Given the description of an element on the screen output the (x, y) to click on. 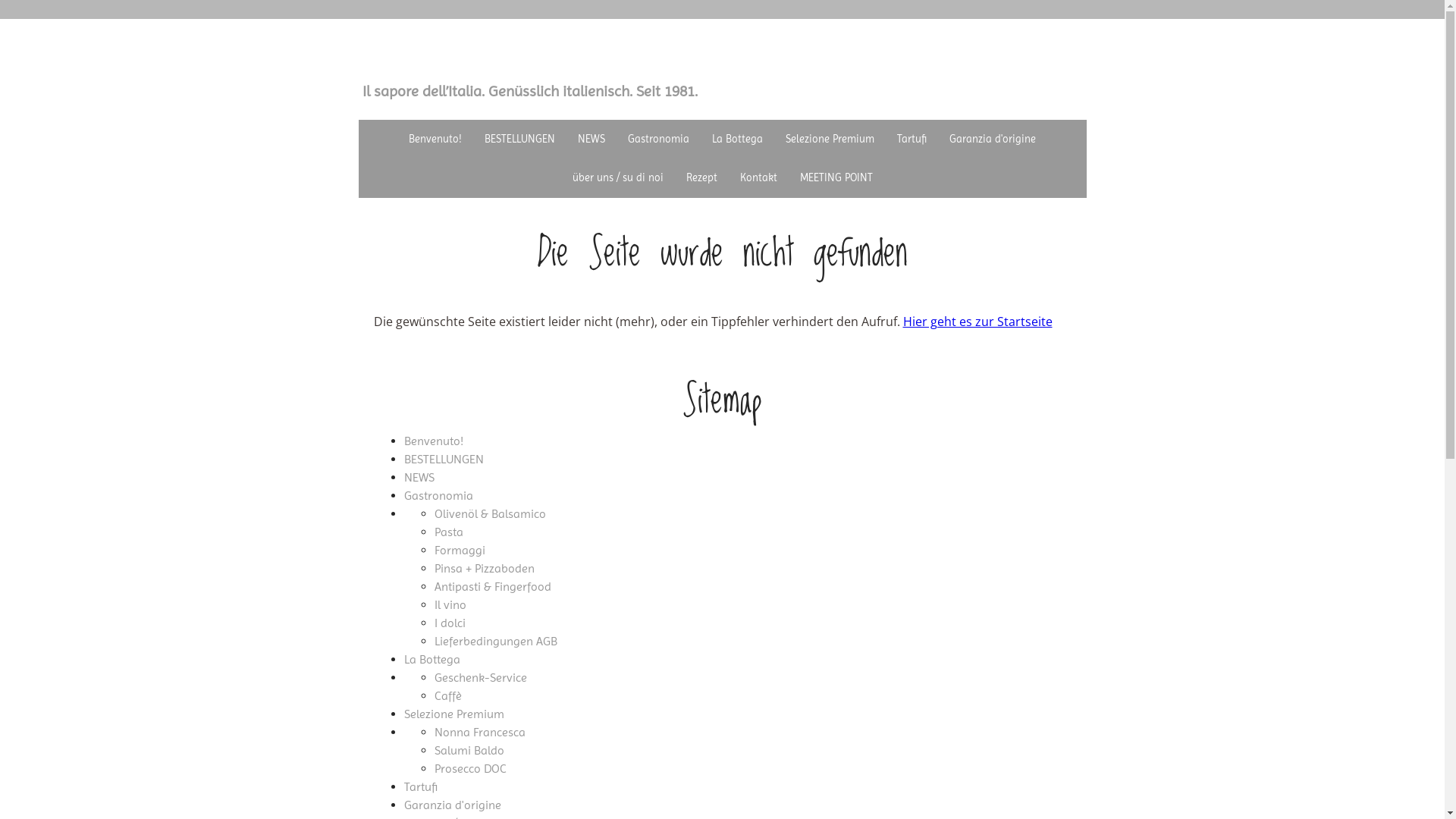
NEWS Element type: text (418, 477)
Kontakt Element type: text (757, 177)
Garanzia d'origine Element type: text (451, 804)
MEETING POINT Element type: text (836, 177)
BESTELLUNGEN Element type: text (519, 138)
Garanzia d'origine Element type: text (992, 138)
Hier geht es zur Startseite Element type: text (976, 321)
BESTELLUNGEN Element type: text (443, 458)
Lieferbedingungen AGB Element type: text (494, 640)
Prosecco DOC Element type: text (469, 768)
Geschenk-Service Element type: text (479, 677)
Benvenuto! Element type: text (435, 138)
Salumi Baldo Element type: text (468, 750)
Gastronomia Element type: text (658, 138)
Il vino Element type: text (449, 604)
La Bottega Element type: text (737, 138)
Benvenuto! Element type: text (432, 440)
NEWS Element type: text (591, 138)
Rezept Element type: text (701, 177)
Gastronomia Element type: text (437, 495)
Pasta Element type: text (447, 531)
La Bottega Element type: text (431, 659)
Selezione Premium Element type: text (453, 713)
Antipasti & Fingerfood Element type: text (491, 586)
Nonna Francesca Element type: text (478, 731)
Pinsa + Pizzaboden Element type: text (483, 568)
I dolci Element type: text (448, 622)
Formaggi Element type: text (458, 549)
Tartufi Element type: text (911, 138)
Tartufi Element type: text (419, 786)
Selezione Premium Element type: text (829, 138)
